Given the description of an element on the screen output the (x, y) to click on. 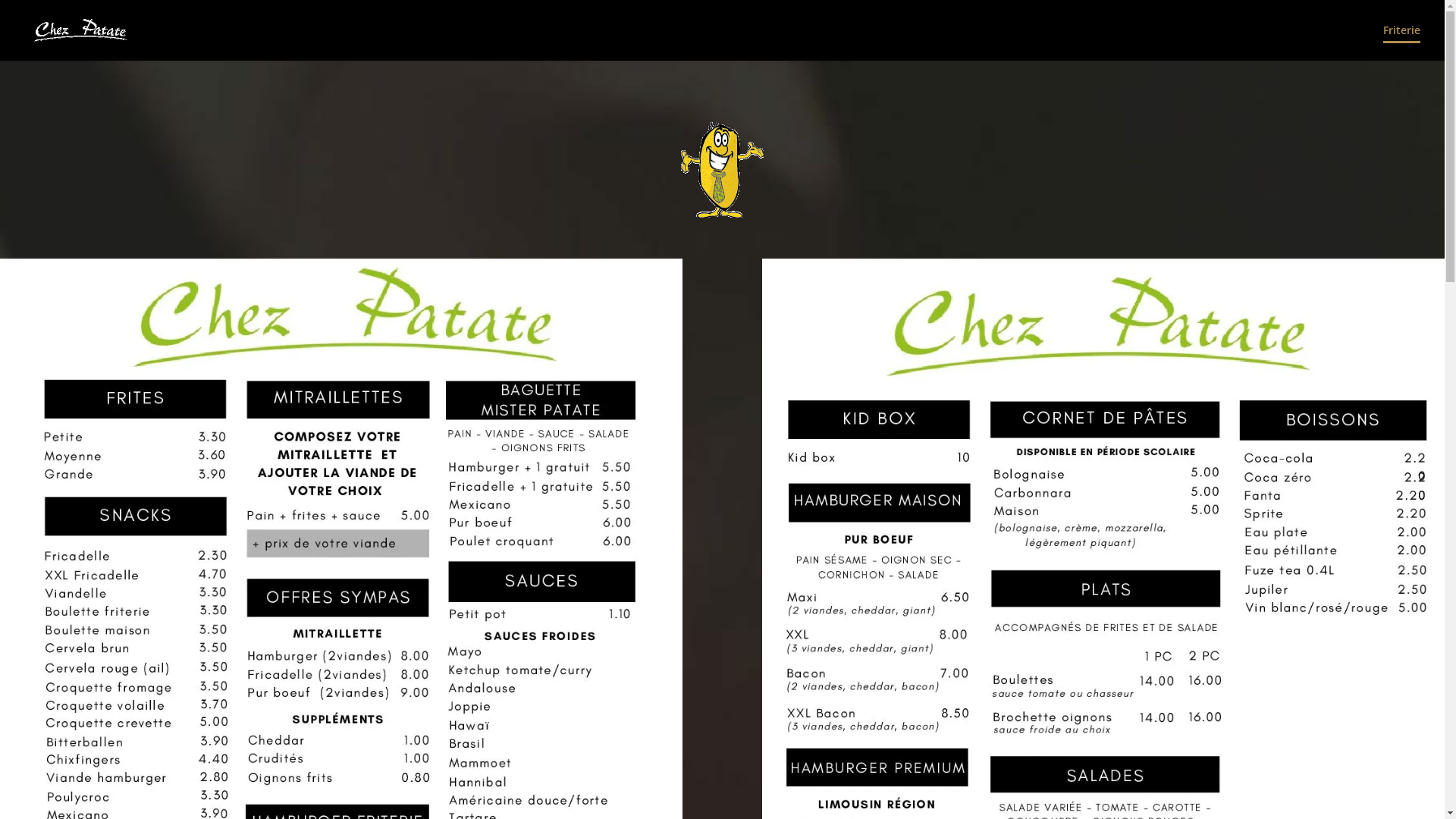
Friterie Element type: text (1401, 42)
